Given the description of an element on the screen output the (x, y) to click on. 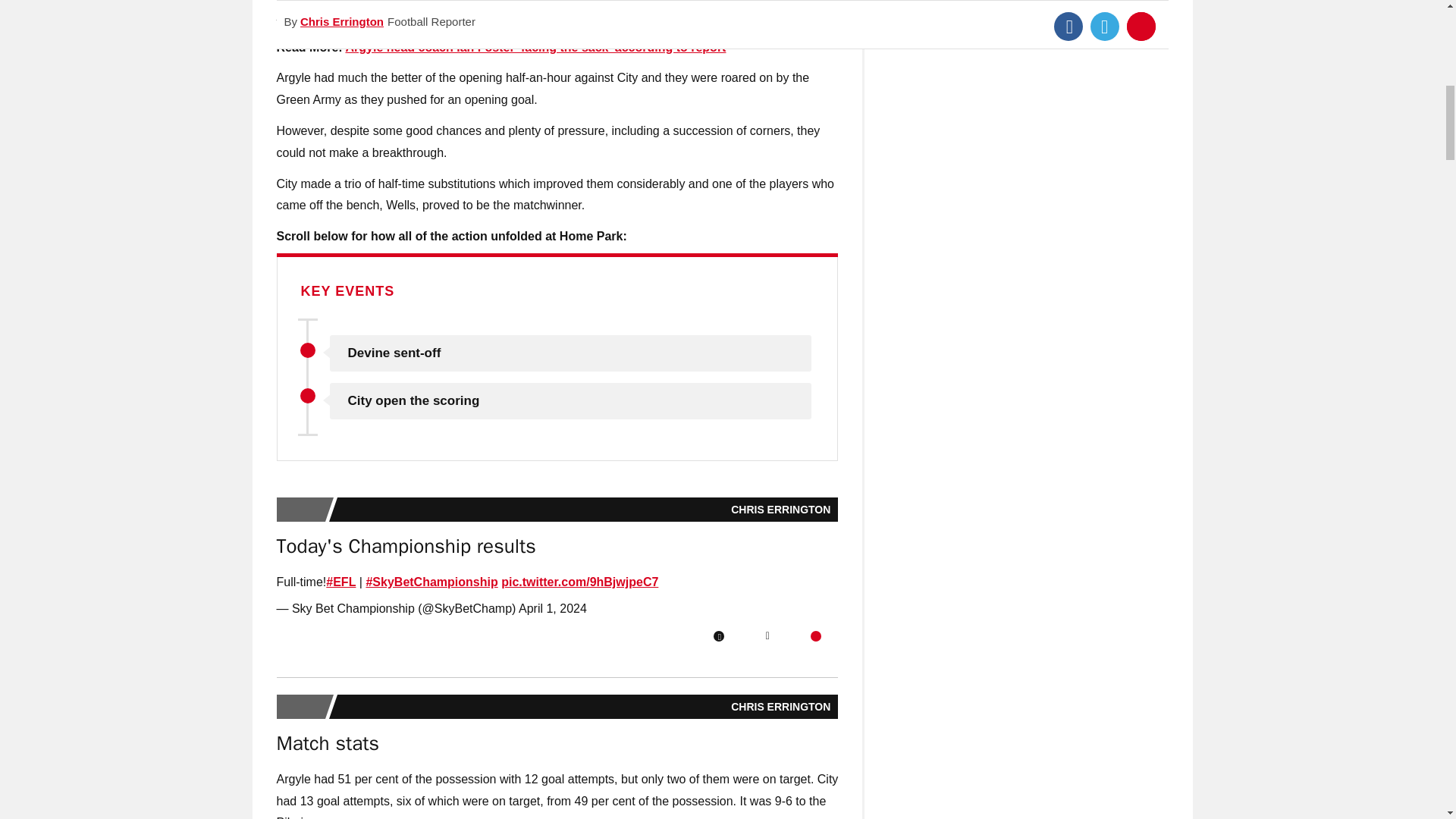
Twitter (767, 635)
Facebook (718, 635)
